Given the description of an element on the screen output the (x, y) to click on. 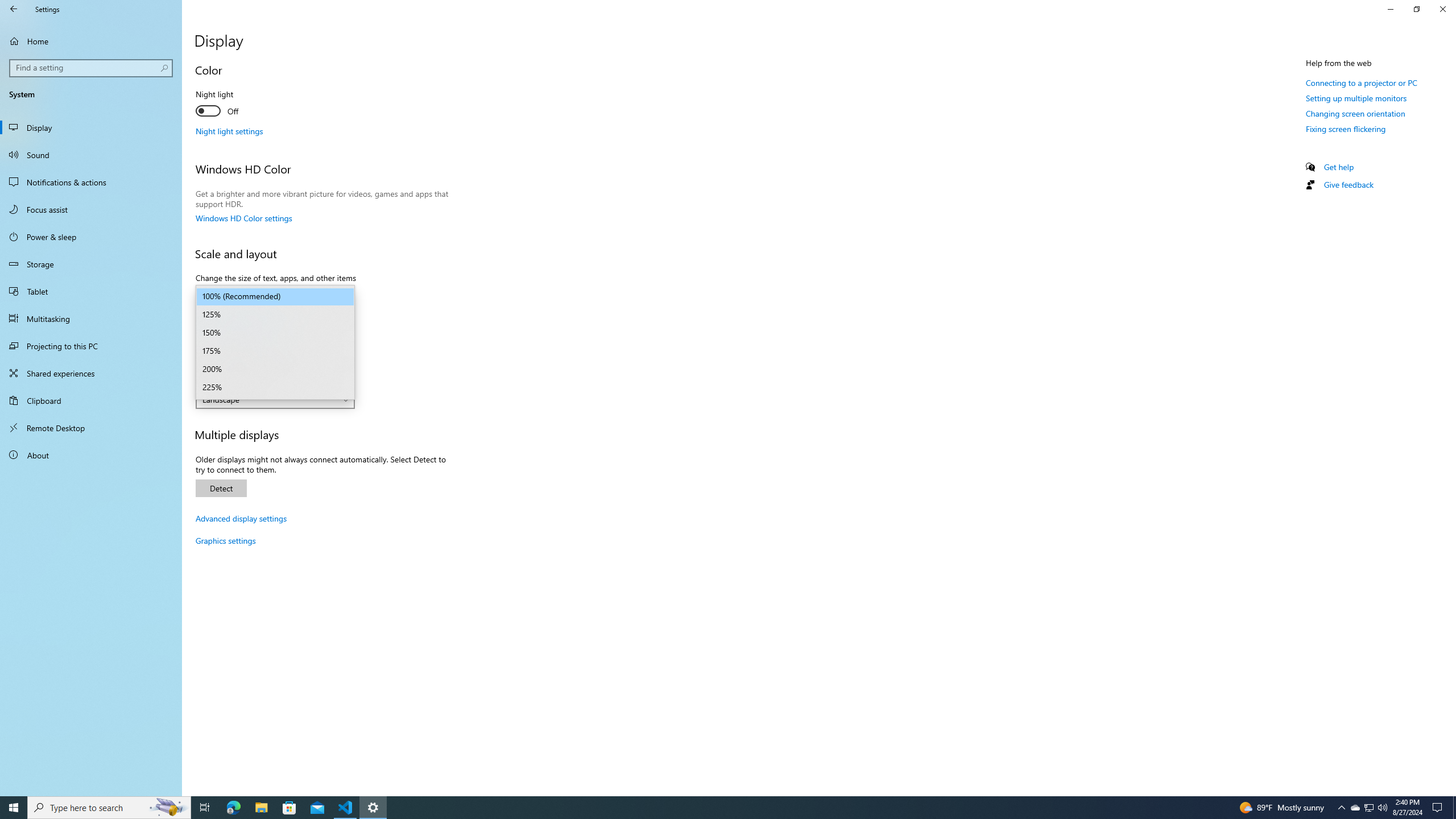
Give feedback (1348, 184)
Clipboard (91, 400)
Search box, Find a setting (91, 67)
Graphics settings (225, 540)
Change the size of text, apps, and other items (275, 296)
Landscape (269, 398)
Shared experiences (91, 372)
Tablet (91, 290)
Connecting to a projector or PC (1361, 82)
Changing screen orientation (1355, 113)
